Given the description of an element on the screen output the (x, y) to click on. 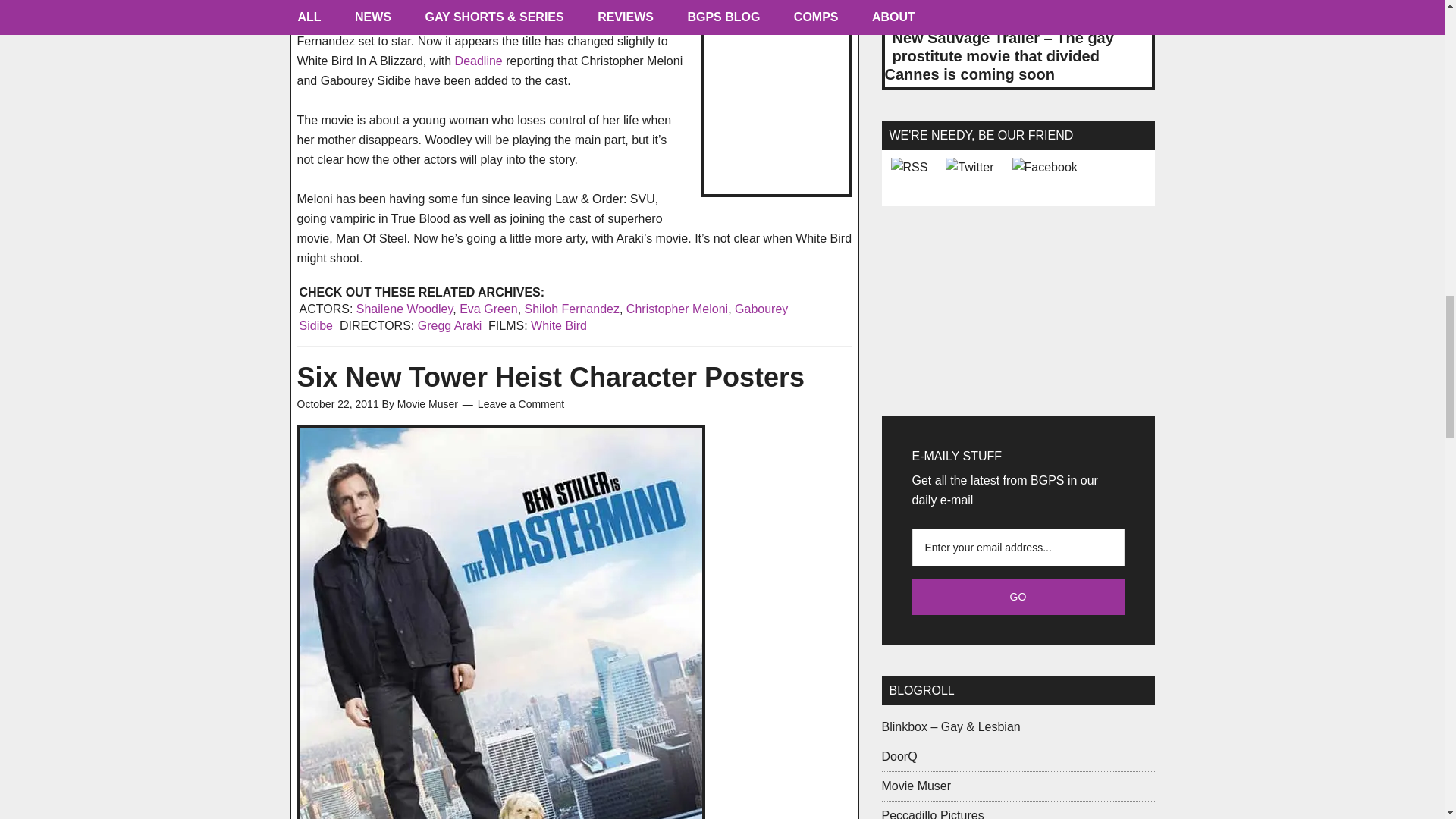
Deadline (480, 60)
Go (1017, 596)
christopher-meloni (775, 98)
Shailene Woodley (404, 308)
